Given the description of an element on the screen output the (x, y) to click on. 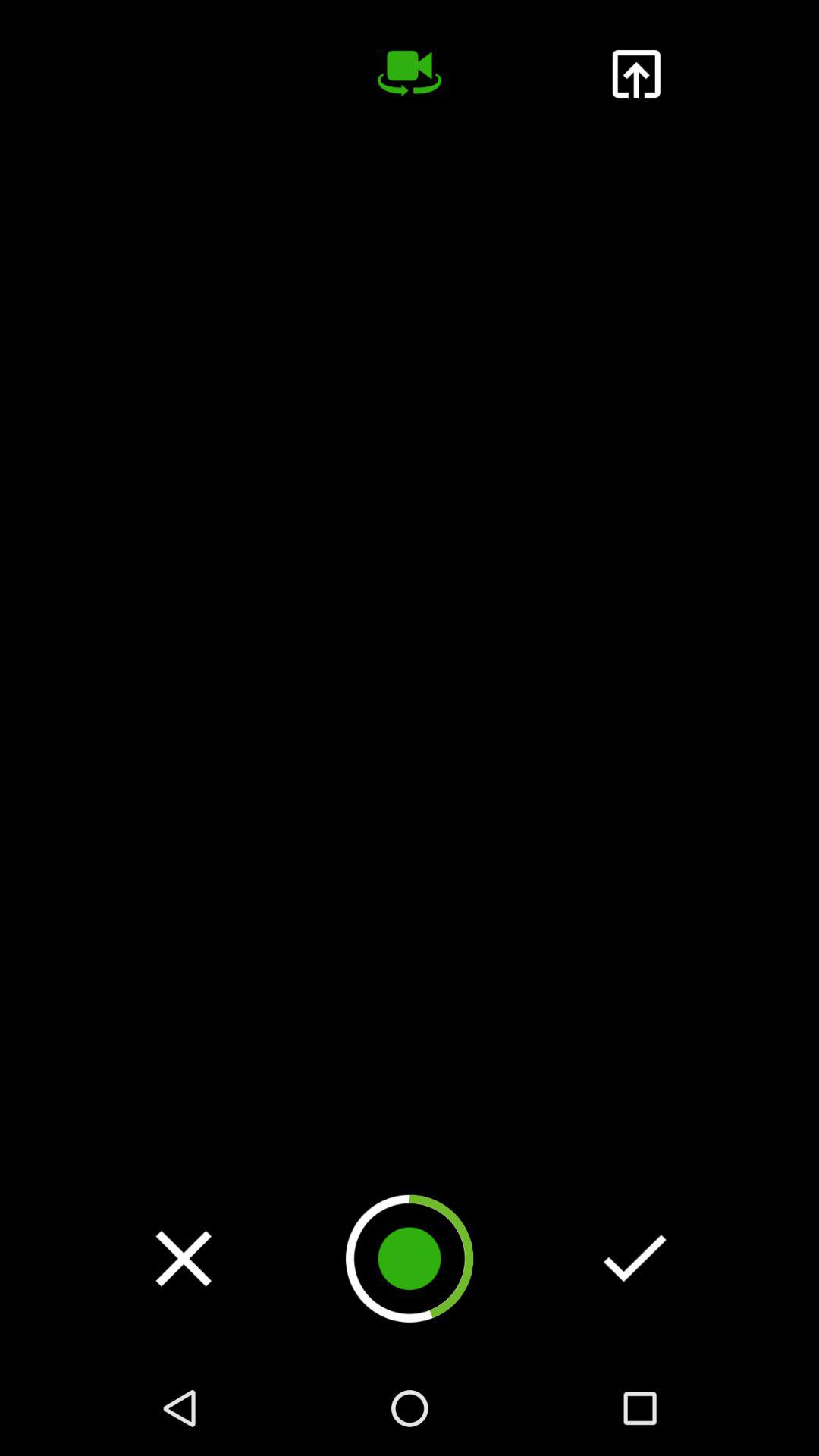
select the icon at the bottom right corner (634, 1258)
